Given the description of an element on the screen output the (x, y) to click on. 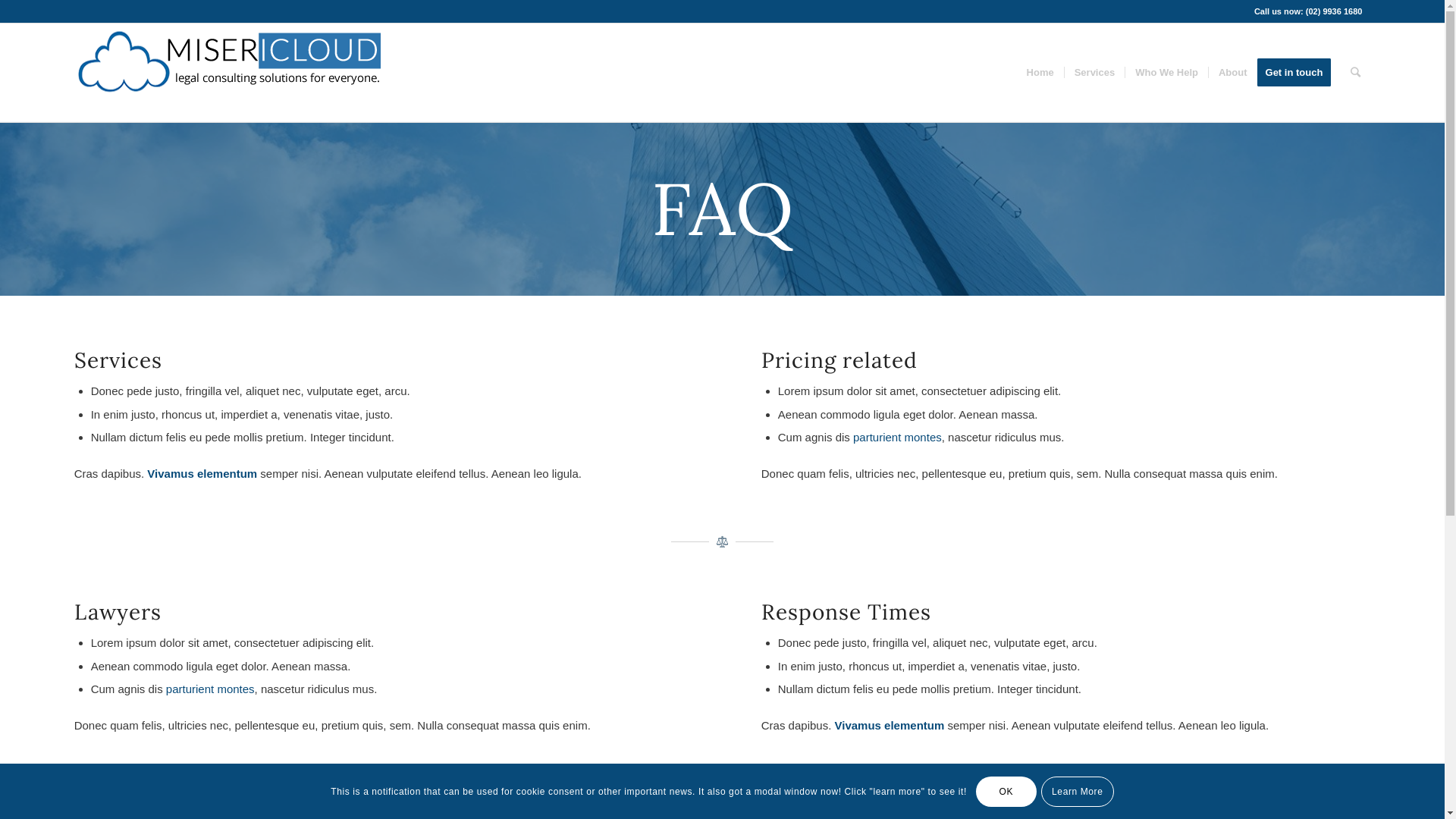
Learn More Element type: text (1077, 790)
parturient montes Element type: text (210, 688)
Get in touch Element type: text (1299, 72)
OK Element type: text (1005, 790)
parturient montes Element type: text (897, 436)
Home Element type: text (1039, 72)
Who We Help Element type: text (1166, 72)
Services Element type: text (1094, 72)
About Element type: text (1232, 72)
